Given the description of an element on the screen output the (x, y) to click on. 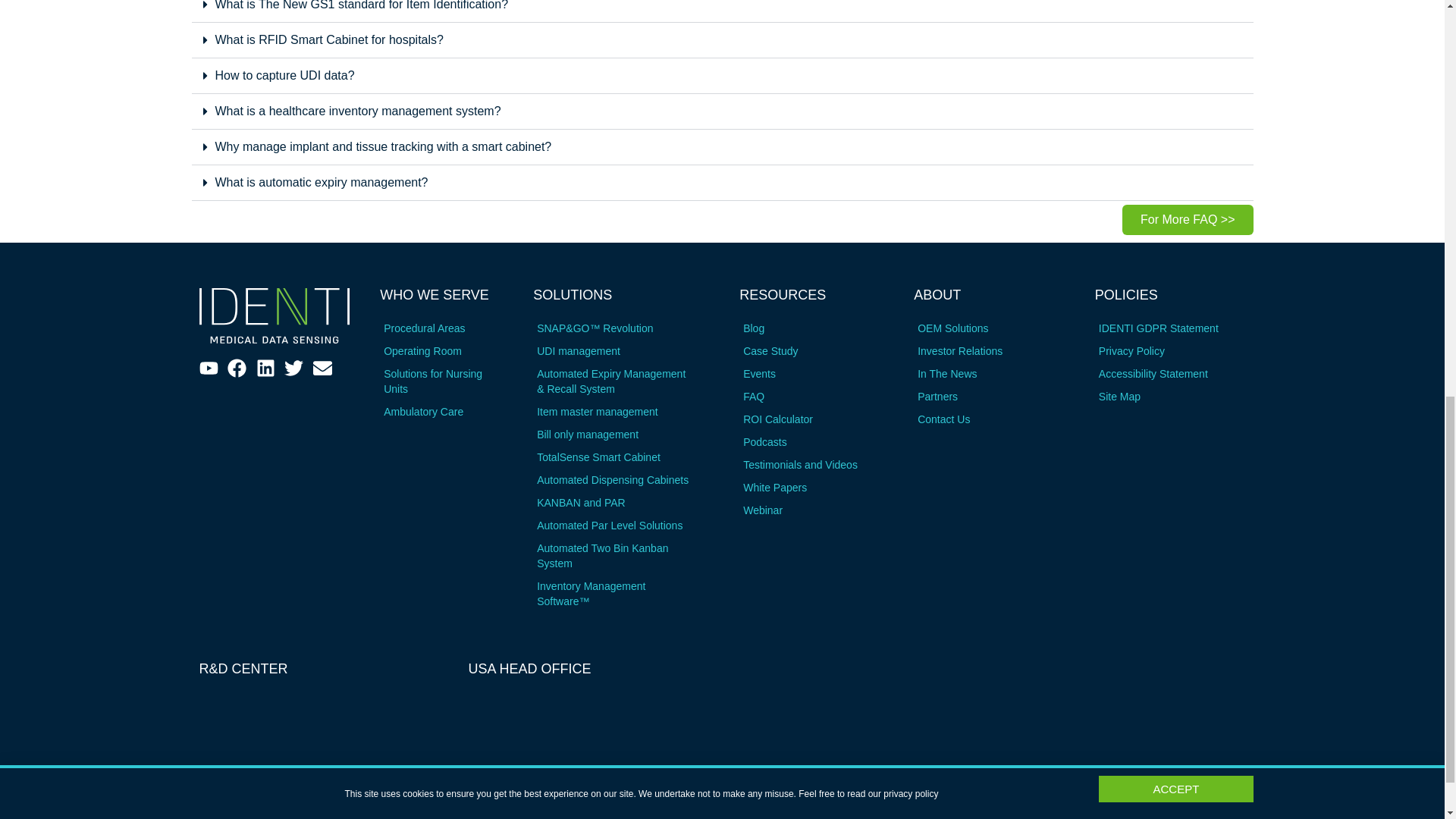
999 South Oyster Bay USA (587, 752)
29 Yad Harutzim Netanya Israel (318, 752)
